Given the description of an element on the screen output the (x, y) to click on. 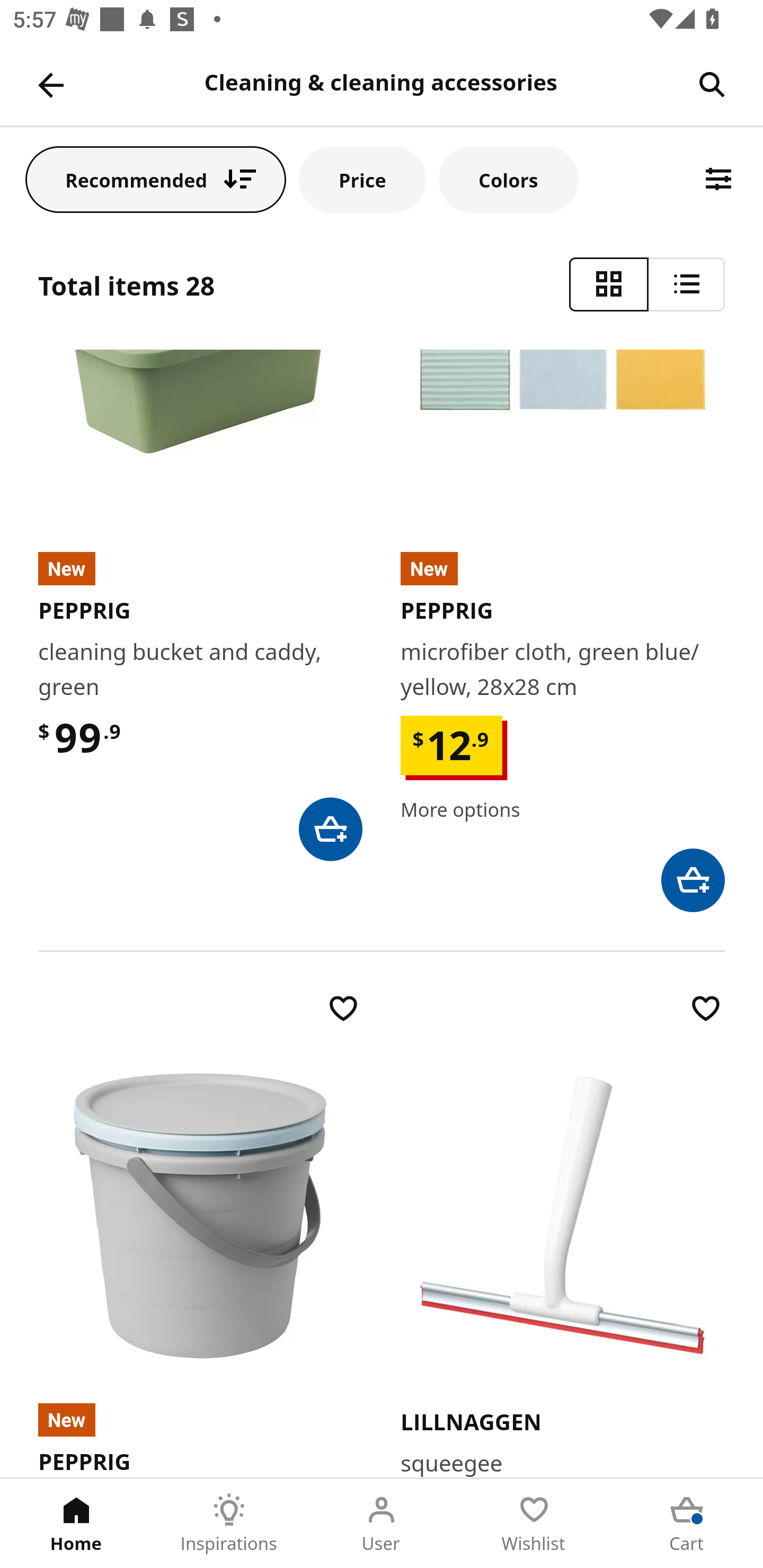
Recommended (155, 179)
Price (362, 179)
Colors (508, 179)
​L​I​L​L​N​A​G​G​E​N​
squeegee
$
9
.9 (562, 1233)
Home
Tab 1 of 5 (76, 1522)
Inspirations
Tab 2 of 5 (228, 1522)
User
Tab 3 of 5 (381, 1522)
Wishlist
Tab 4 of 5 (533, 1522)
Cart
Tab 5 of 5 (686, 1522)
